Given the description of an element on the screen output the (x, y) to click on. 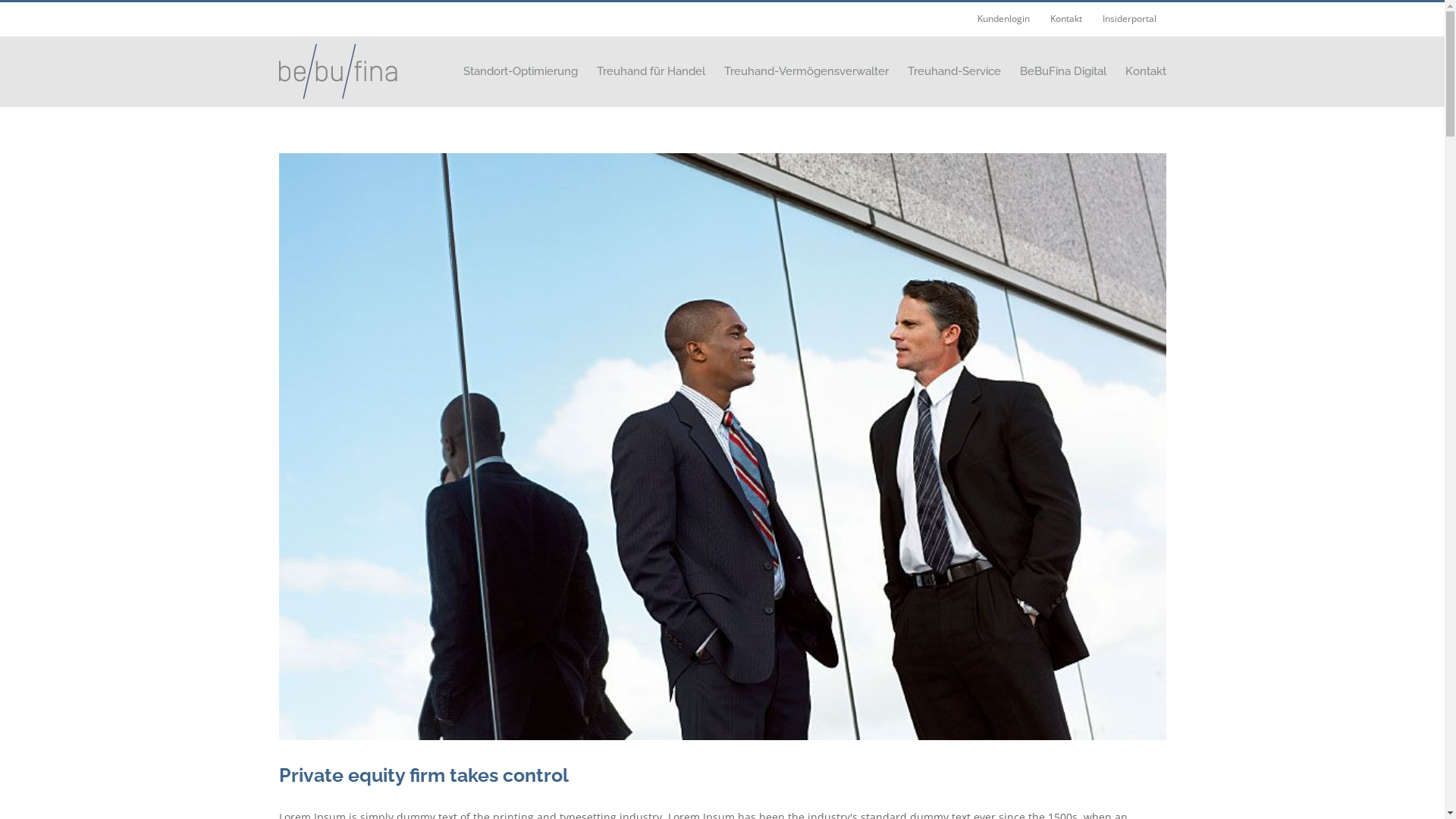
Standort-Optimierung Element type: text (519, 71)
Kontakt Element type: text (1145, 71)
Insiderportal Element type: text (1128, 18)
Treuhand-Service Element type: text (953, 71)
Kontakt Element type: text (1066, 18)
BeBuFina Digital Element type: text (1062, 71)
Kundenlogin Element type: text (1003, 18)
Private equity firm takes control Element type: text (423, 774)
